Given the description of an element on the screen output the (x, y) to click on. 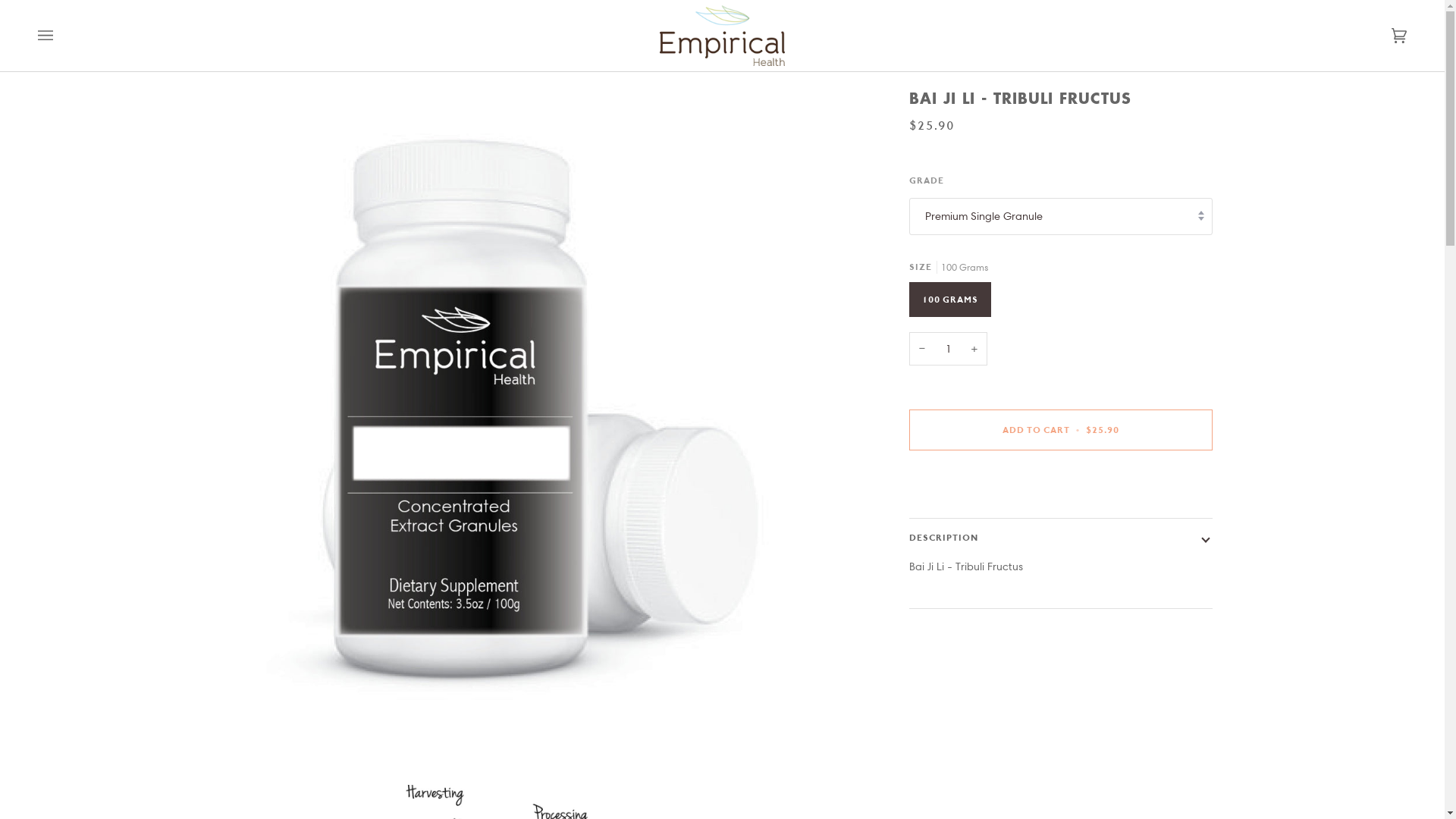
Premium Single Granule Element type: text (1060, 216)
DESCRIPTION Element type: text (1060, 537)
Cart
(0) Element type: text (1383, 35)
+ Element type: text (974, 349)
